Given the description of an element on the screen output the (x, y) to click on. 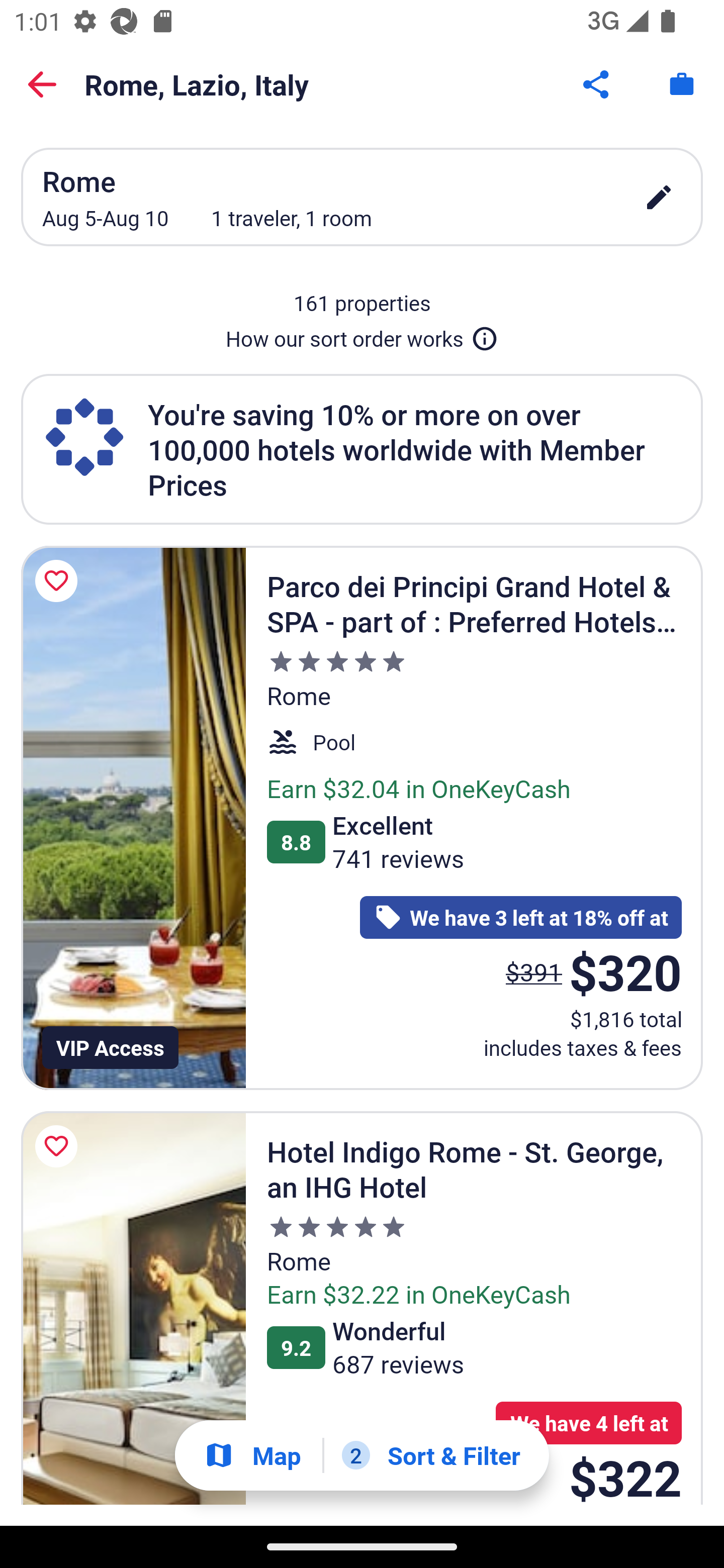
Back (42, 84)
Share Button (597, 84)
Trips. Button (681, 84)
Rome Aug 5-Aug 10 1 traveler, 1 room edit (361, 196)
How our sort order works (361, 334)
$391 The price was $391 (533, 971)
Hotel Indigo Rome - St. George, an IHG Hotel (133, 1308)
2 Sort & Filter 2 Filters applied. Filters Button (430, 1455)
Show map Map Show map Button (252, 1455)
